Given the description of an element on the screen output the (x, y) to click on. 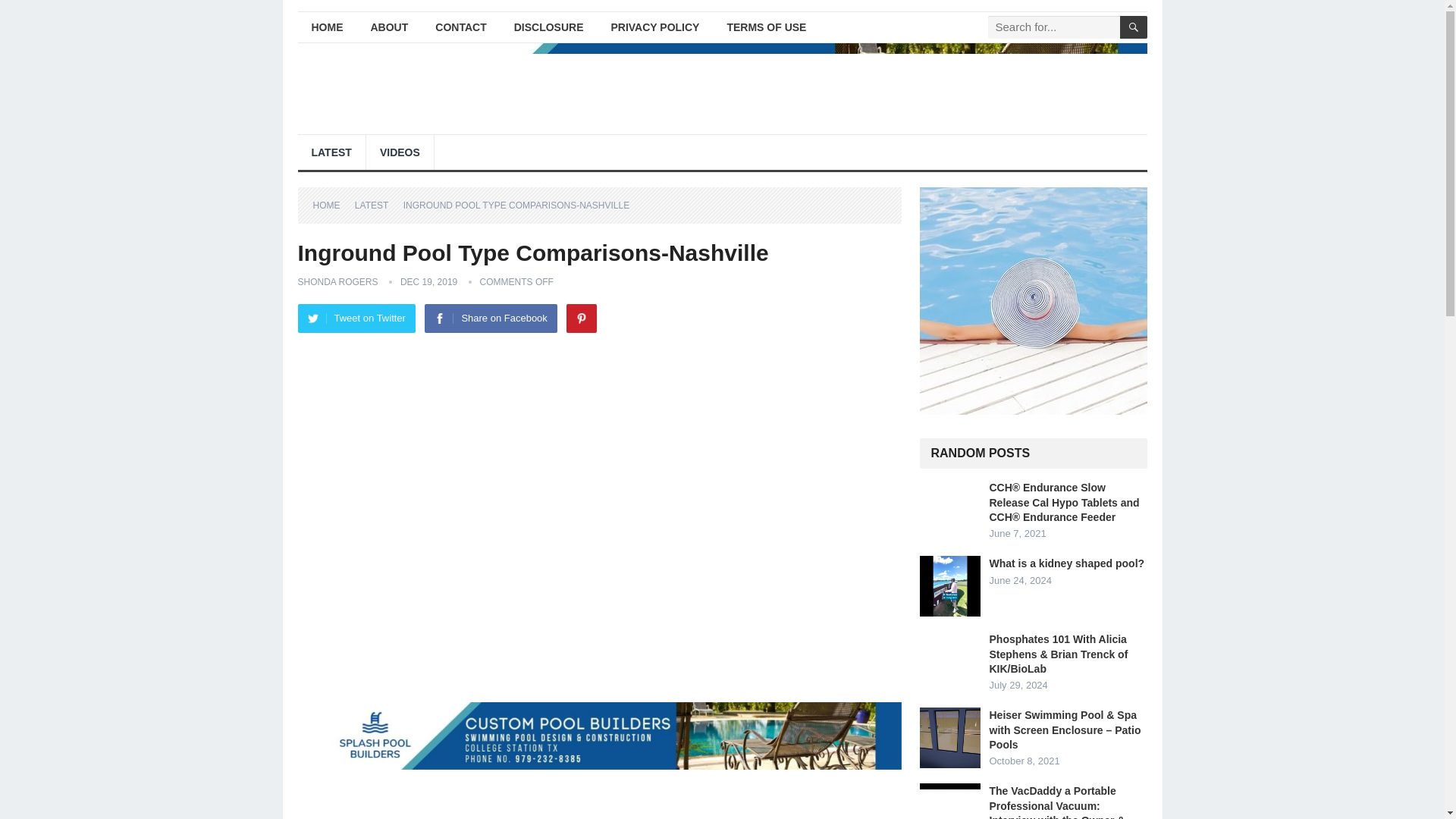
Share on Facebook (490, 317)
Tweet on Twitter (355, 317)
CONTACT (460, 27)
ABOUT (389, 27)
VIDEOS (399, 152)
Posts by shonda rogers (337, 281)
What is a kidney shaped pool? 14 (948, 586)
View all posts in Latest (376, 204)
Pinterest (581, 317)
LATEST (376, 204)
TERMS OF USE (766, 27)
SHONDA ROGERS (337, 281)
HOME (326, 27)
DISCLOSURE (548, 27)
